Given the description of an element on the screen output the (x, y) to click on. 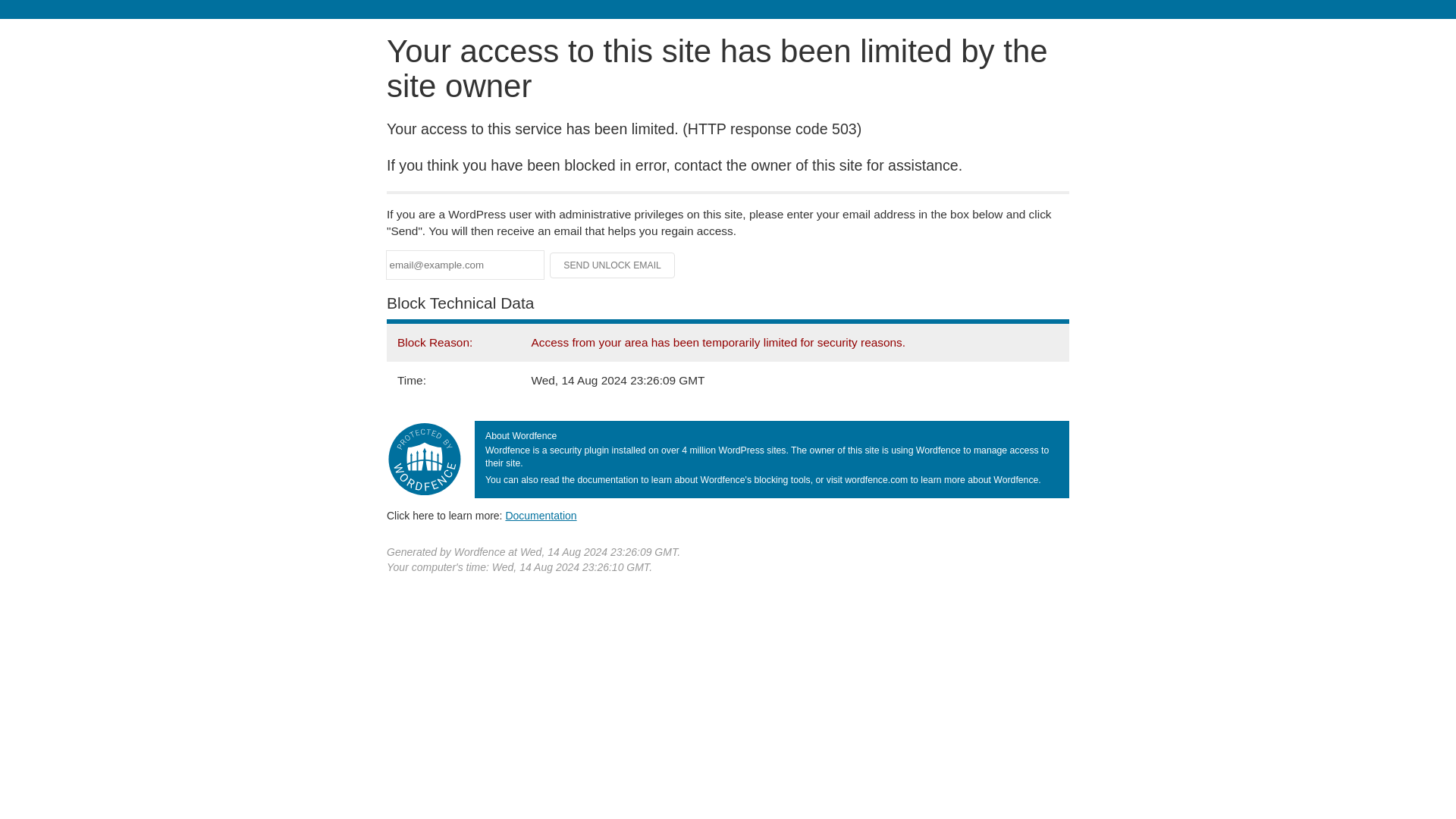
Send Unlock Email (612, 265)
Documentation (540, 515)
Send Unlock Email (612, 265)
